Given the description of an element on the screen output the (x, y) to click on. 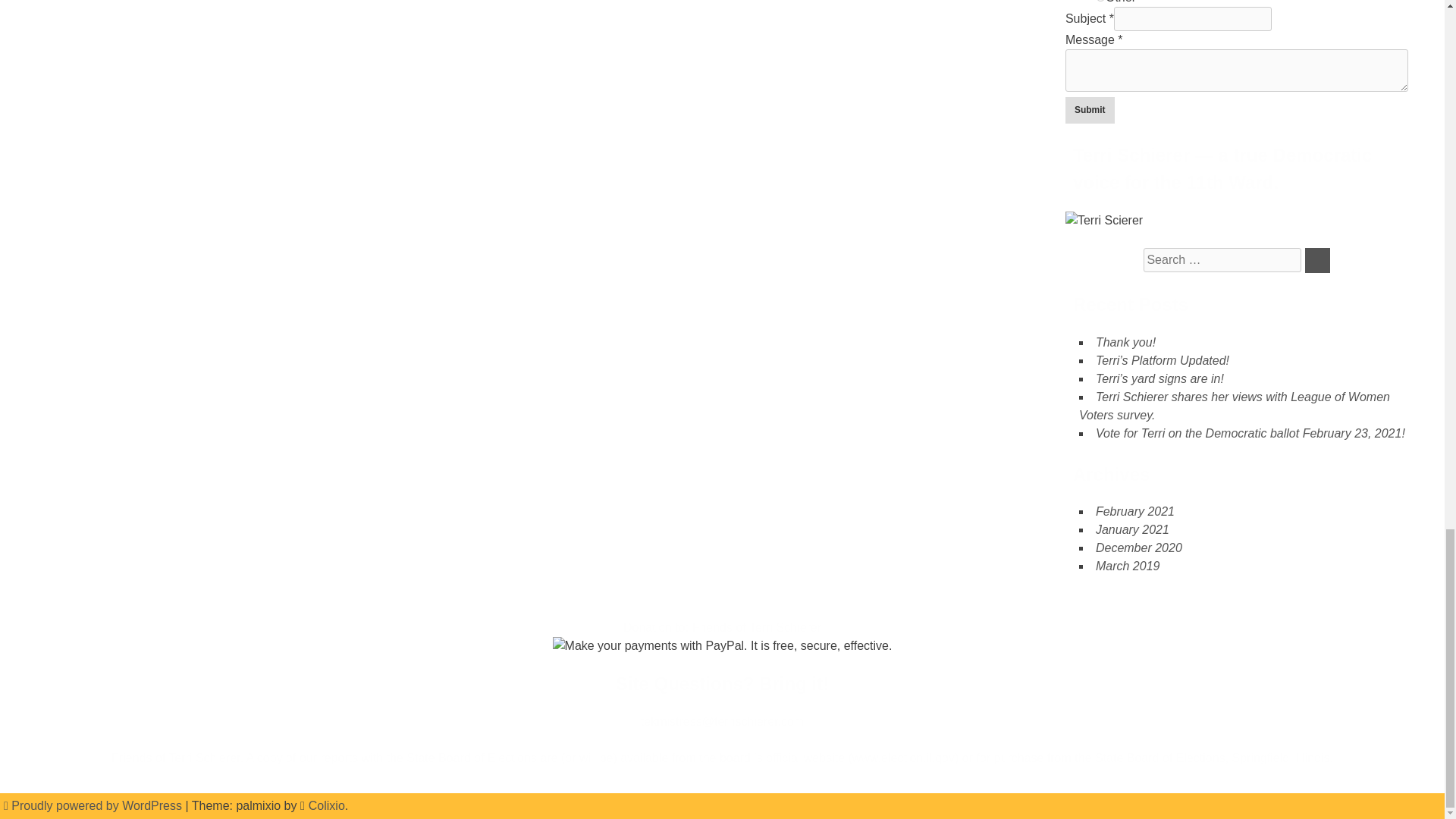
Search (1317, 260)
Colixio (326, 805)
March 2019 (1128, 565)
Vote for Terri on the Democratic ballot February 23, 2021! (1250, 432)
www.election.il.gov (903, 757)
Proudly powered by WordPress (94, 805)
Colixio (326, 805)
January 2021 (1132, 529)
Search (1317, 260)
